Given the description of an element on the screen output the (x, y) to click on. 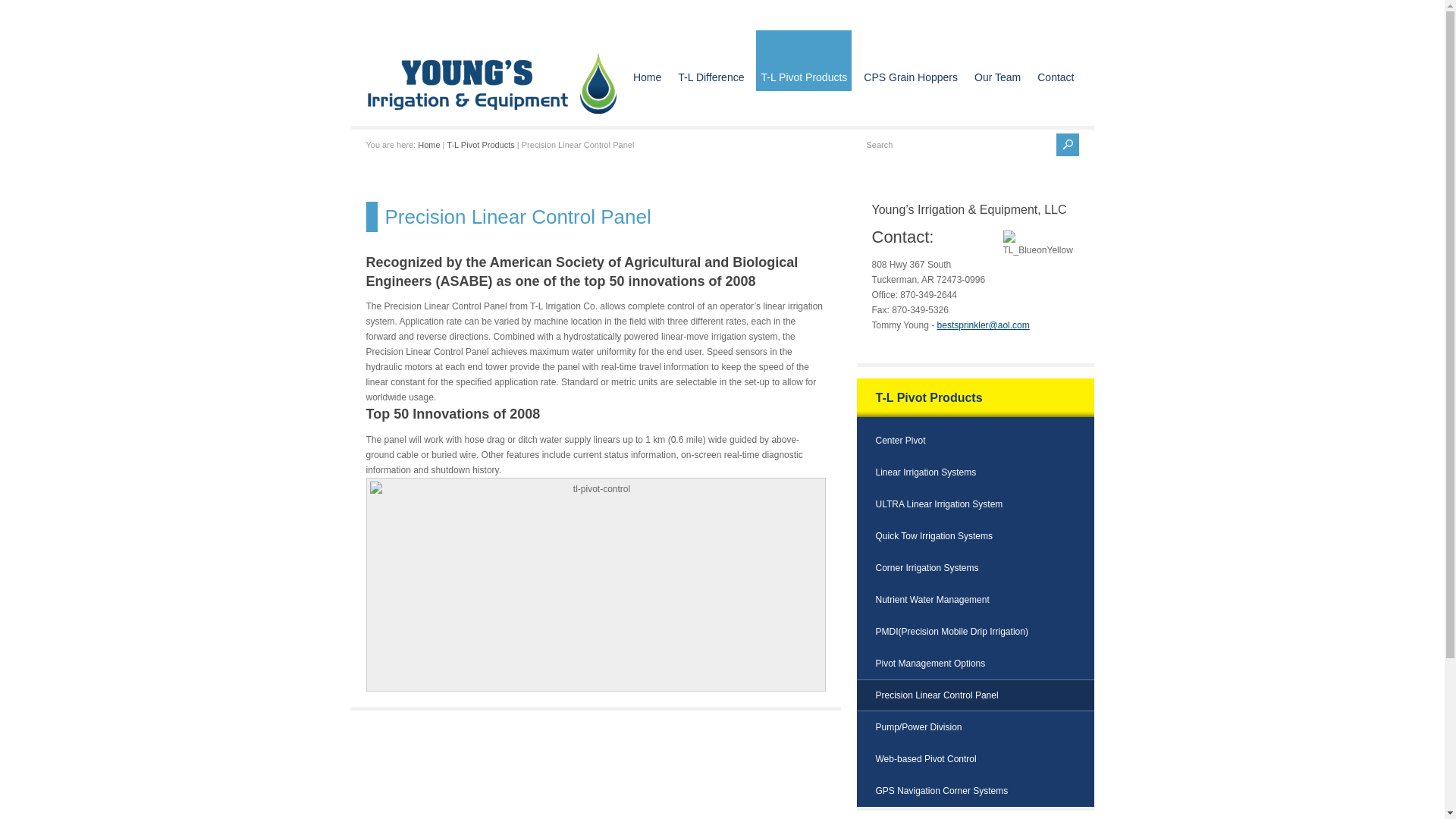
Search (957, 144)
Linear Irrigation Systems (925, 471)
Home (428, 144)
ULTRA Linear Irrigation System (939, 503)
T-L Difference (710, 60)
Nutrient Water Management (931, 599)
T-L Pivot Products (479, 144)
Corner Irrigation Systems (926, 567)
Center Pivot (899, 439)
T-L Pivot Products (479, 144)
